Given the description of an element on the screen output the (x, y) to click on. 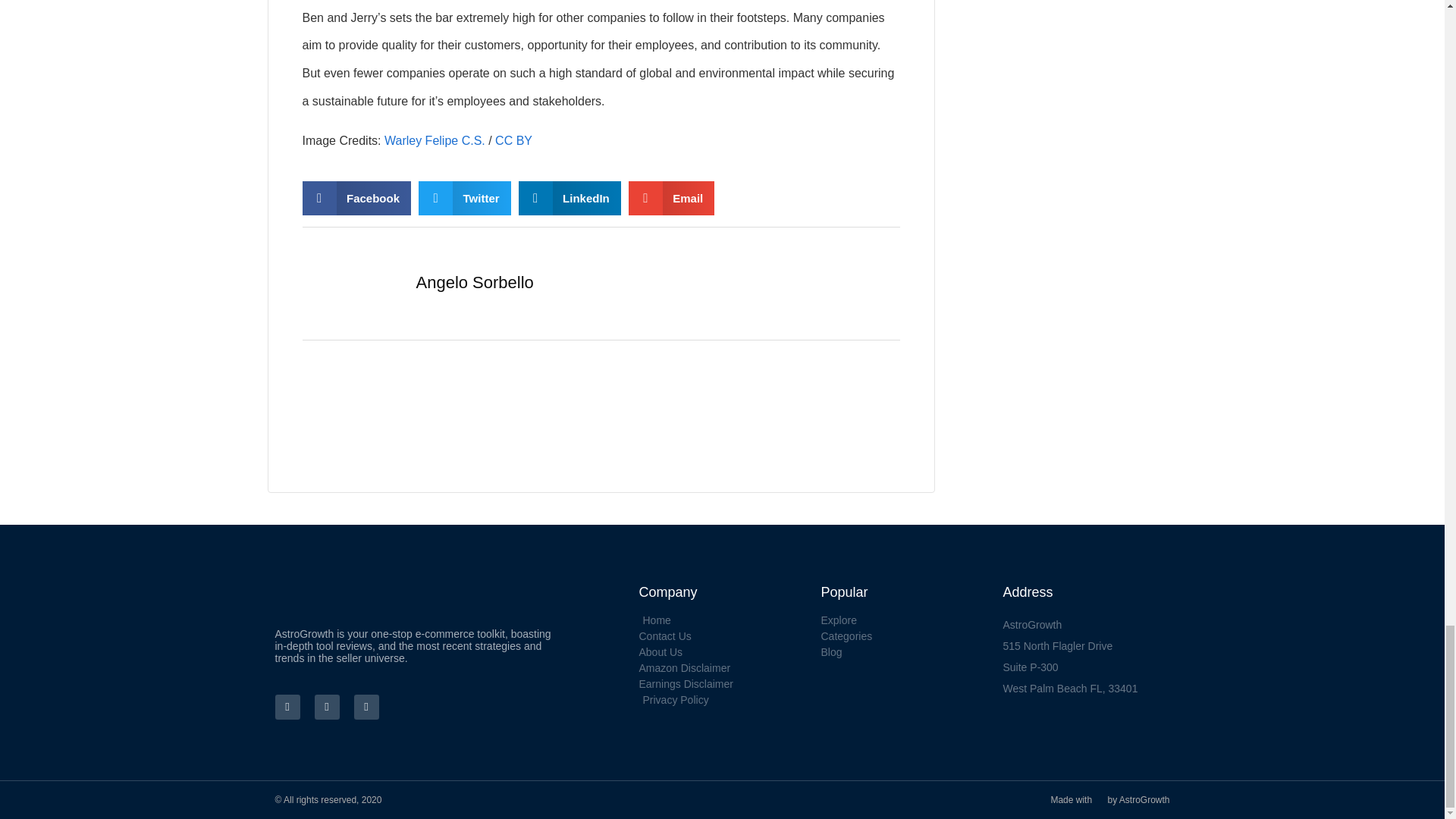
Amazon Disclaimer (722, 667)
Privacy Policy (722, 699)
About Us (722, 652)
Warley Felipe C.S. (434, 140)
Home (722, 620)
Earnings Disclaimer (722, 684)
Contact Us (722, 635)
CC BY (513, 140)
